Given the description of an element on the screen output the (x, y) to click on. 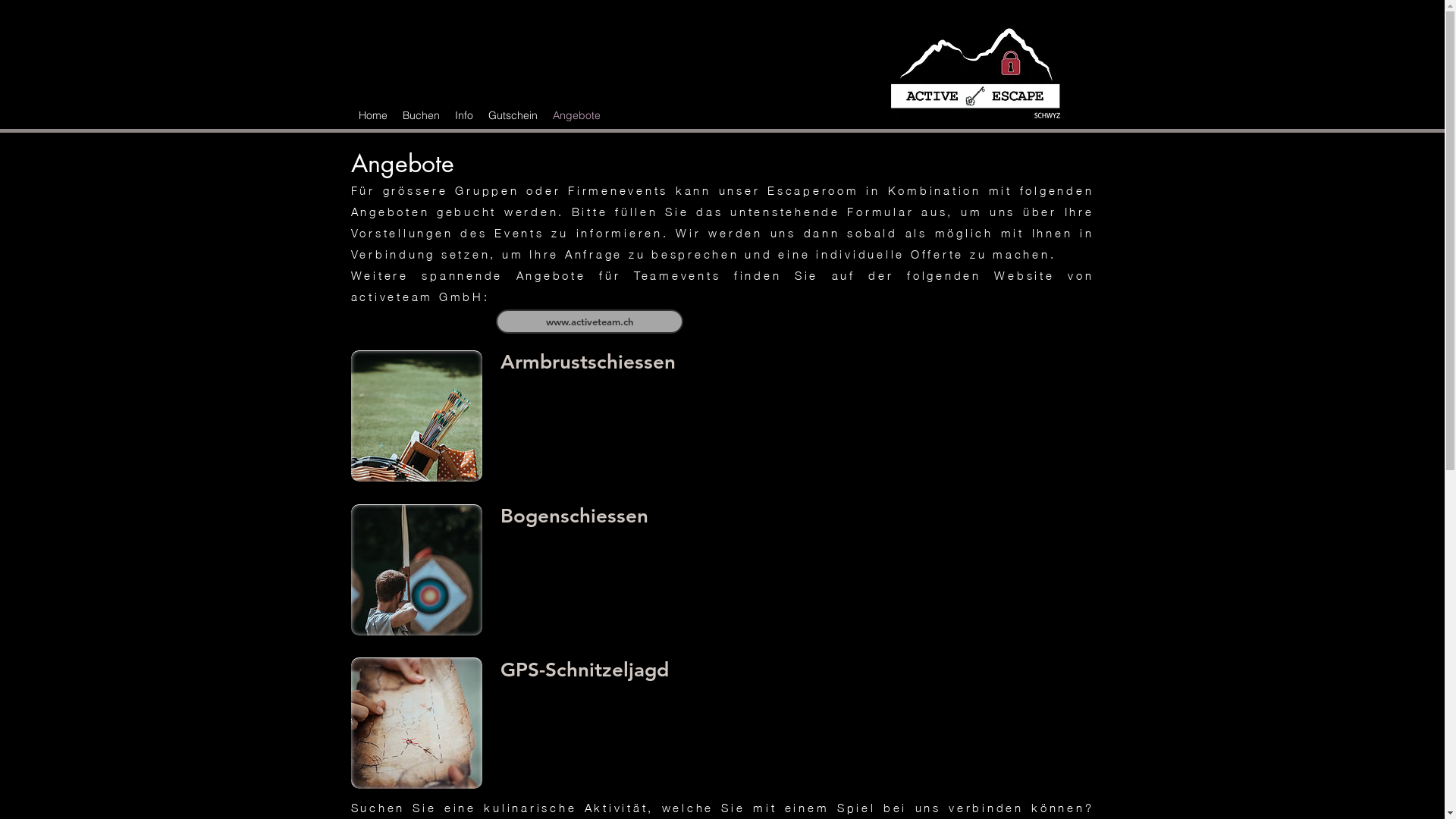
Escape room Schwyz, Active Escape Element type: hover (415, 568)
Escape room Schwyz, Active Escape Element type: hover (415, 415)
Angebote Element type: text (575, 114)
Info Element type: text (463, 114)
Home Element type: text (372, 114)
Escape room Schwyz, Active Escape Element type: hover (415, 722)
Buchen Element type: text (420, 114)
Gutschein Element type: text (512, 114)
www.activeteam.ch Element type: text (589, 321)
